Given the description of an element on the screen output the (x, y) to click on. 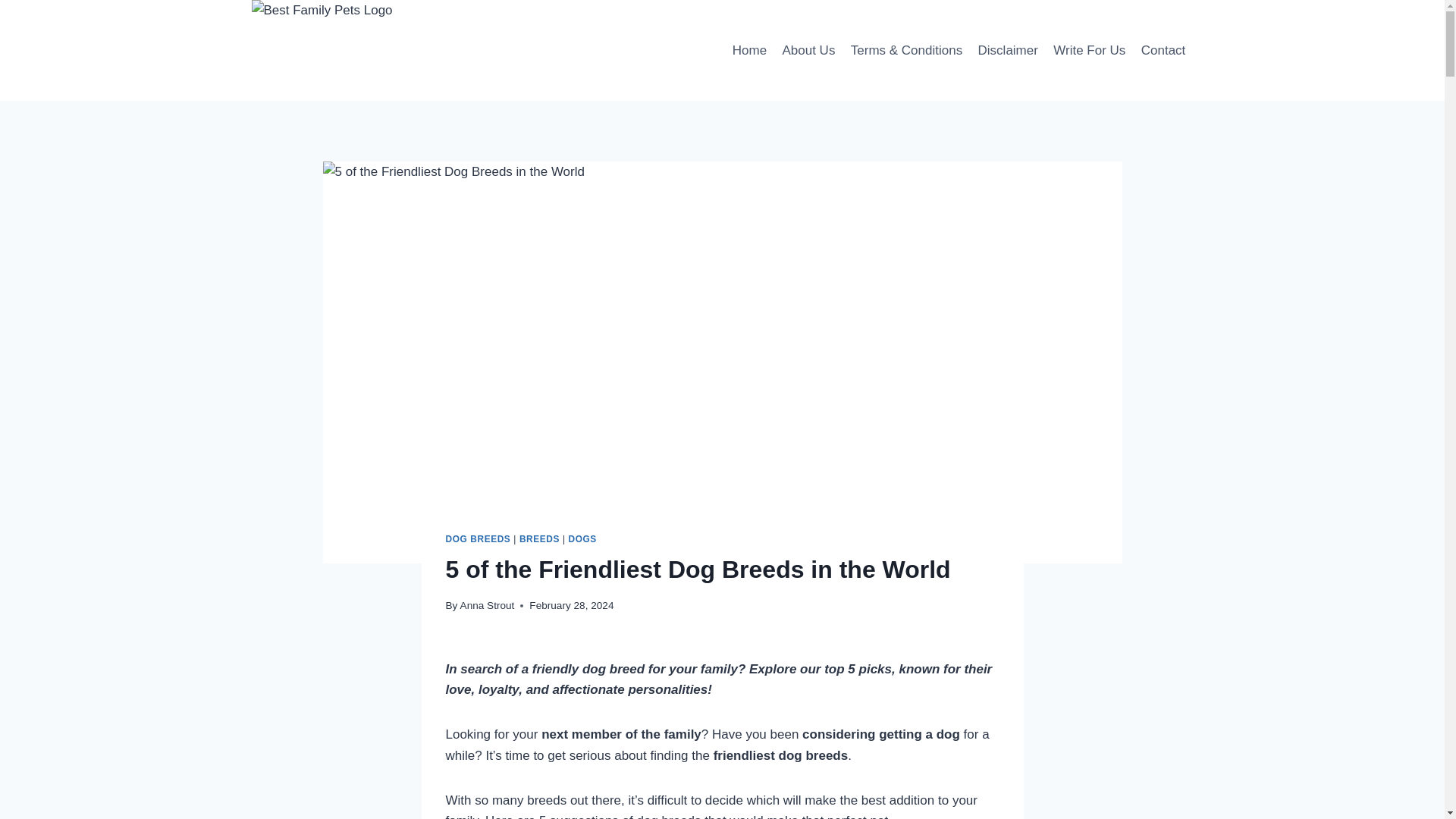
BREEDS (539, 538)
About Us (808, 50)
Write For Us (1088, 50)
Anna Strout (487, 604)
Disclaimer (1007, 50)
Home (749, 50)
DOGS (582, 538)
Contact (1163, 50)
DOG BREEDS (478, 538)
